Given the description of an element on the screen output the (x, y) to click on. 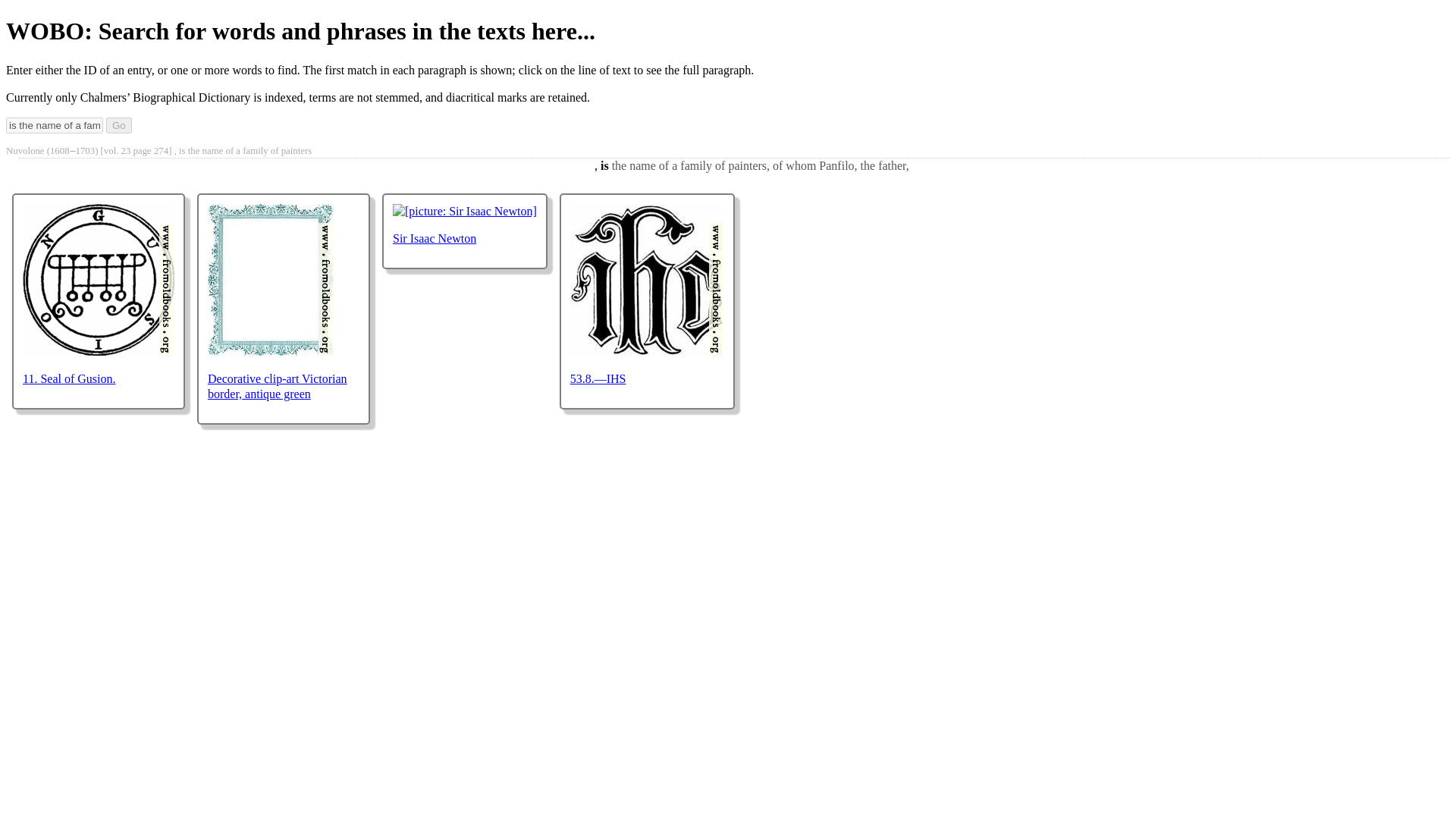
Go (119, 125)
Sir Isaac Newton (434, 237)
is the name of a family of painters (54, 125)
Decorative clip-art Victorian border, antique green (277, 386)
11. Seal of Gusion. (69, 378)
Go (119, 125)
